Given the description of an element on the screen output the (x, y) to click on. 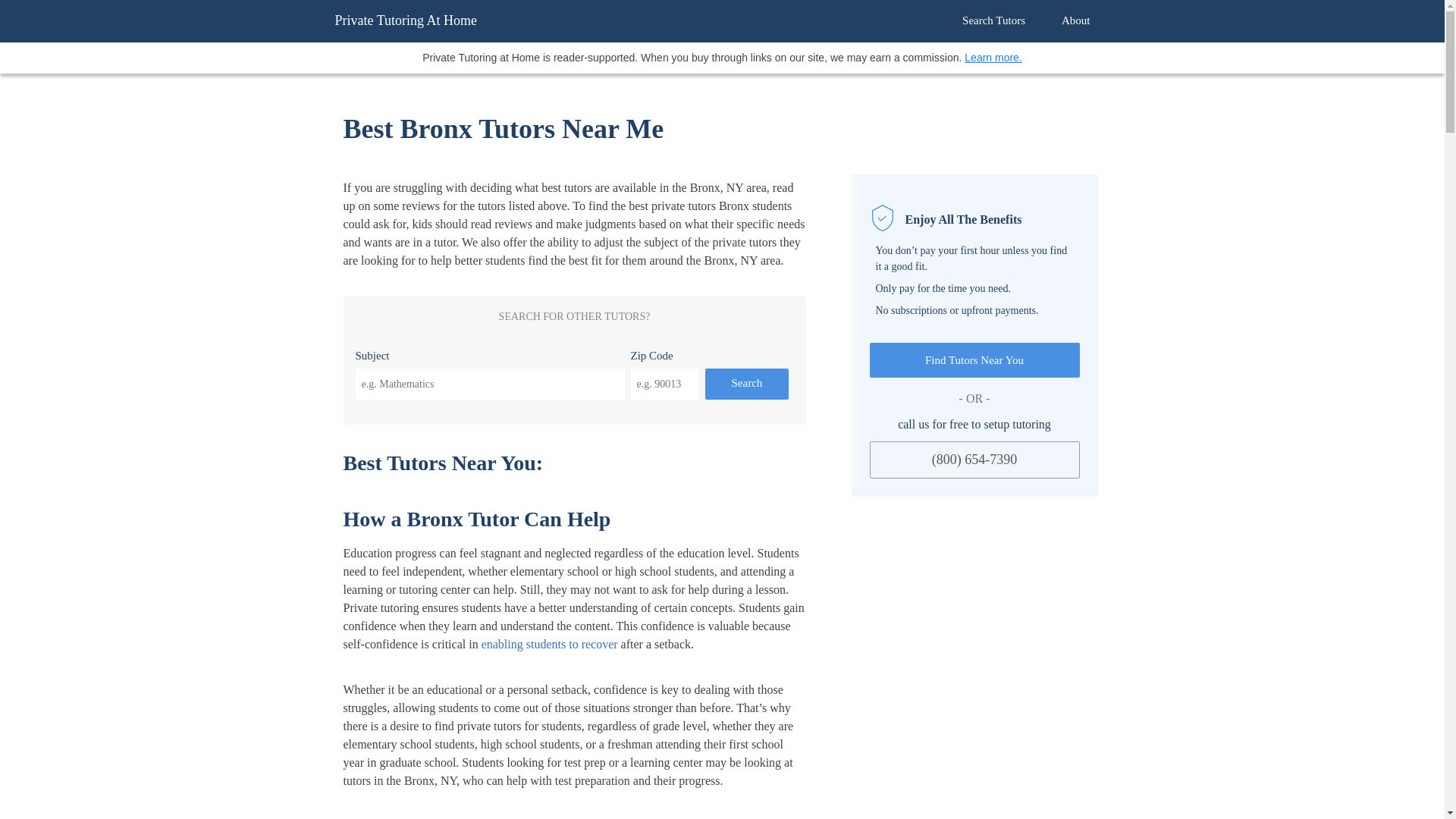
Find Tutors Near You (973, 360)
Search Tutors (993, 20)
enabling students to recover (549, 644)
Search (746, 383)
Private Tutoring At Home (405, 20)
About (1075, 20)
Learn more. (992, 57)
